Given the description of an element on the screen output the (x, y) to click on. 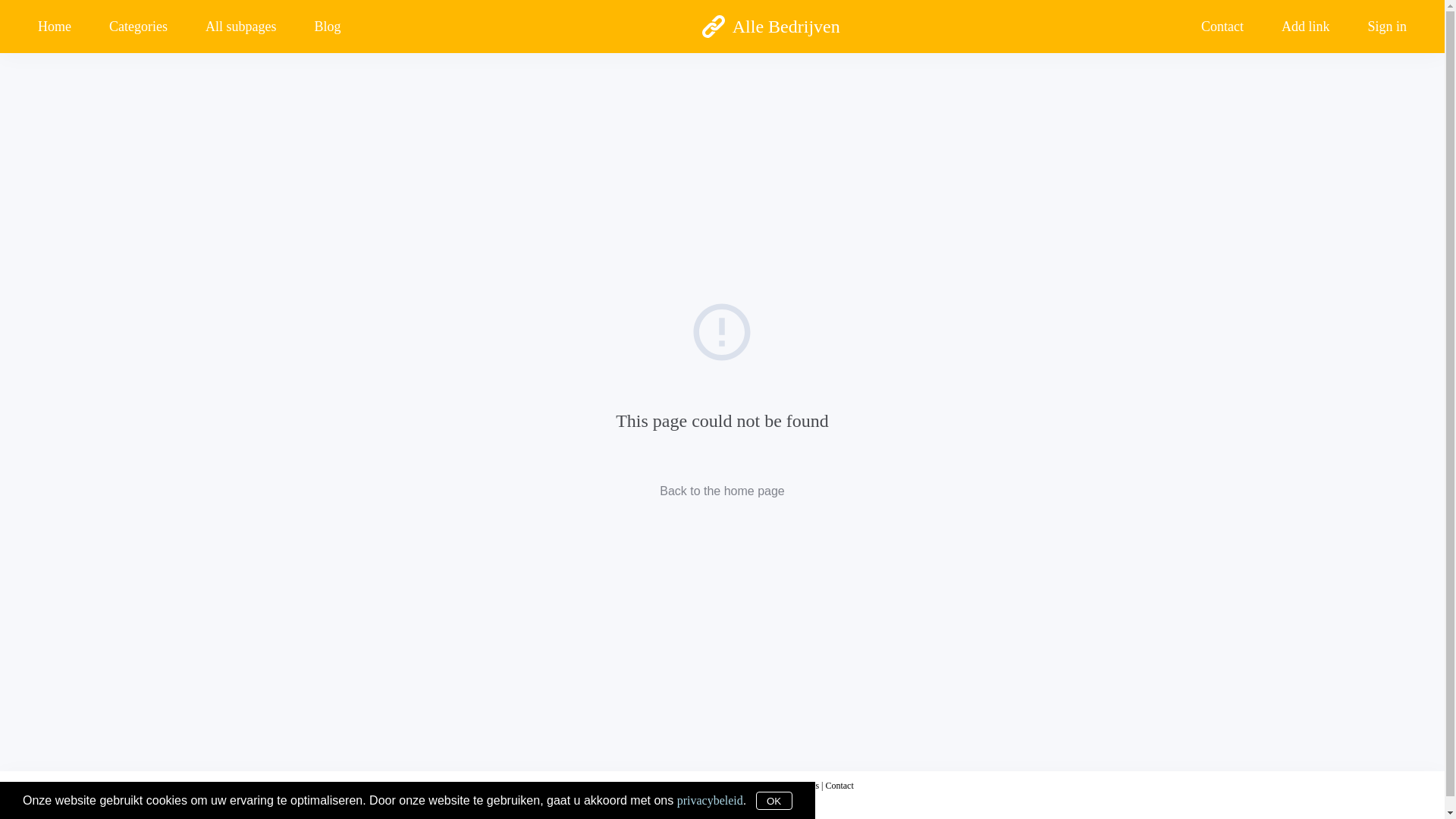
Blog Element type: text (326, 25)
Terms & Conditions Element type: text (781, 785)
Nuxt Element type: text (21, 802)
CATEGORIES Element type: text (722, 164)
Add link Element type: text (1305, 25)
HOME Element type: text (721, 94)
All subpages Element type: text (240, 25)
privacybeleid Element type: text (710, 799)
LinkBuilder Element type: text (71, 31)
ADD LINK Element type: text (721, 376)
ALL SUBPAGES Element type: text (721, 235)
Home Element type: text (63, 25)
allebedrijven.be Element type: text (649, 785)
Alle Bedrijven Element type: text (770, 26)
Categories Element type: text (138, 25)
Sign in Element type: text (1377, 25)
Privacy Policy Element type: text (711, 785)
OK Element type: text (774, 800)
Back to the home page Element type: text (721, 489)
Contact Element type: text (1222, 25)
SIGN IN Element type: text (721, 446)
CONTACT Element type: text (722, 305)
Contact Element type: text (839, 785)
